Given the description of an element on the screen output the (x, y) to click on. 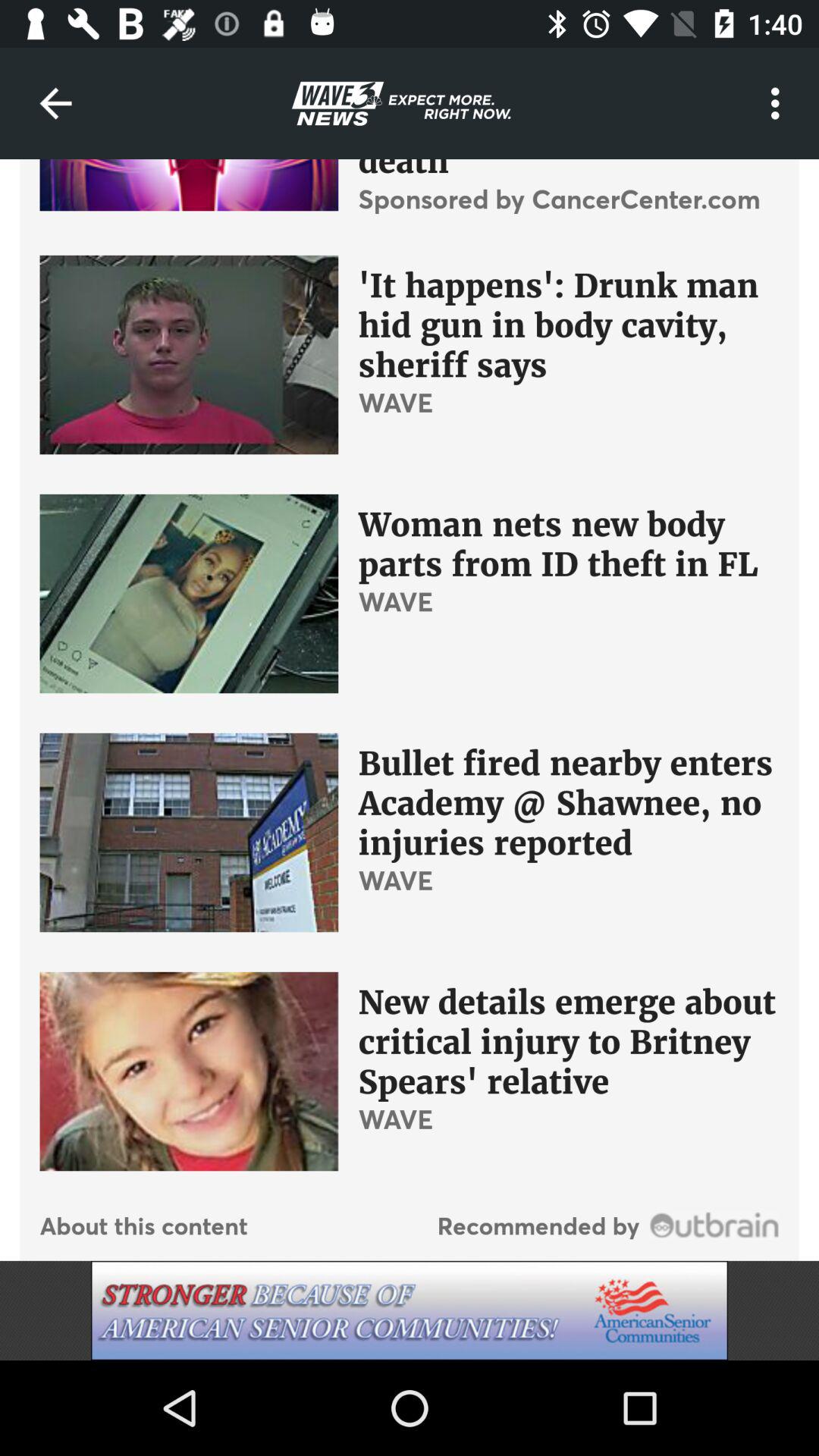
go to advertisement (409, 1310)
